Given the description of an element on the screen output the (x, y) to click on. 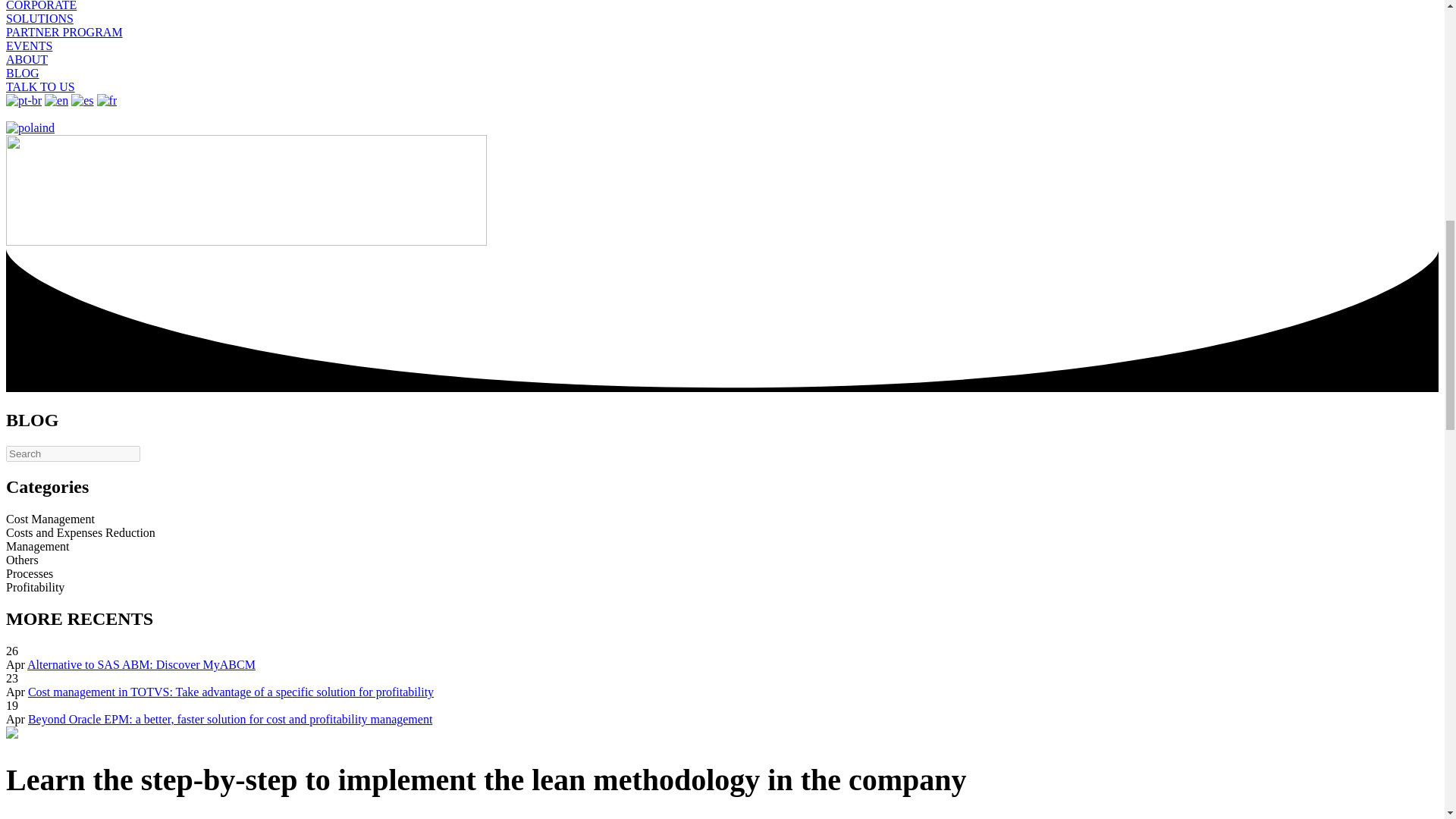
TALK TO US (40, 86)
ABOUT (26, 59)
SOLUTIONS (39, 18)
PARTNER PROGRAM (63, 31)
BLOG (22, 72)
CORPORATE (41, 5)
EVENTS (28, 45)
